Given the description of an element on the screen output the (x, y) to click on. 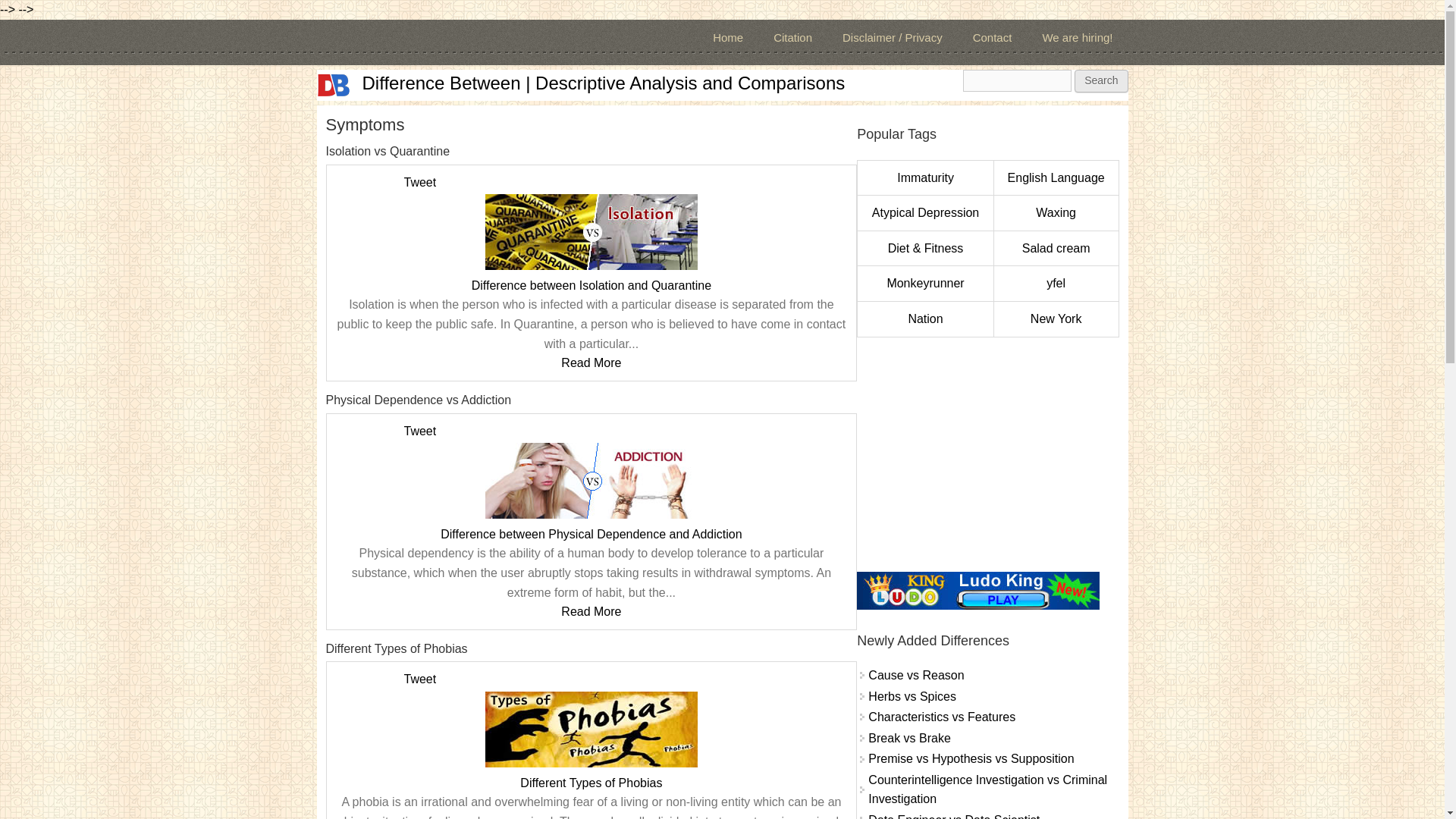
Home (333, 84)
Immaturity (924, 177)
Atypical Depression (925, 212)
Different Types of Phobias (590, 782)
Isolation vs Quarantine (590, 232)
Read More (590, 362)
Tweet (419, 678)
Physical Dependence vs Addiction (590, 480)
Citation (792, 37)
Enter the terms you wish to search for. (1016, 80)
Salad cream (1056, 247)
Tweet (419, 182)
Home (604, 83)
Waxing (1055, 212)
Search (1100, 80)
